Given the description of an element on the screen output the (x, y) to click on. 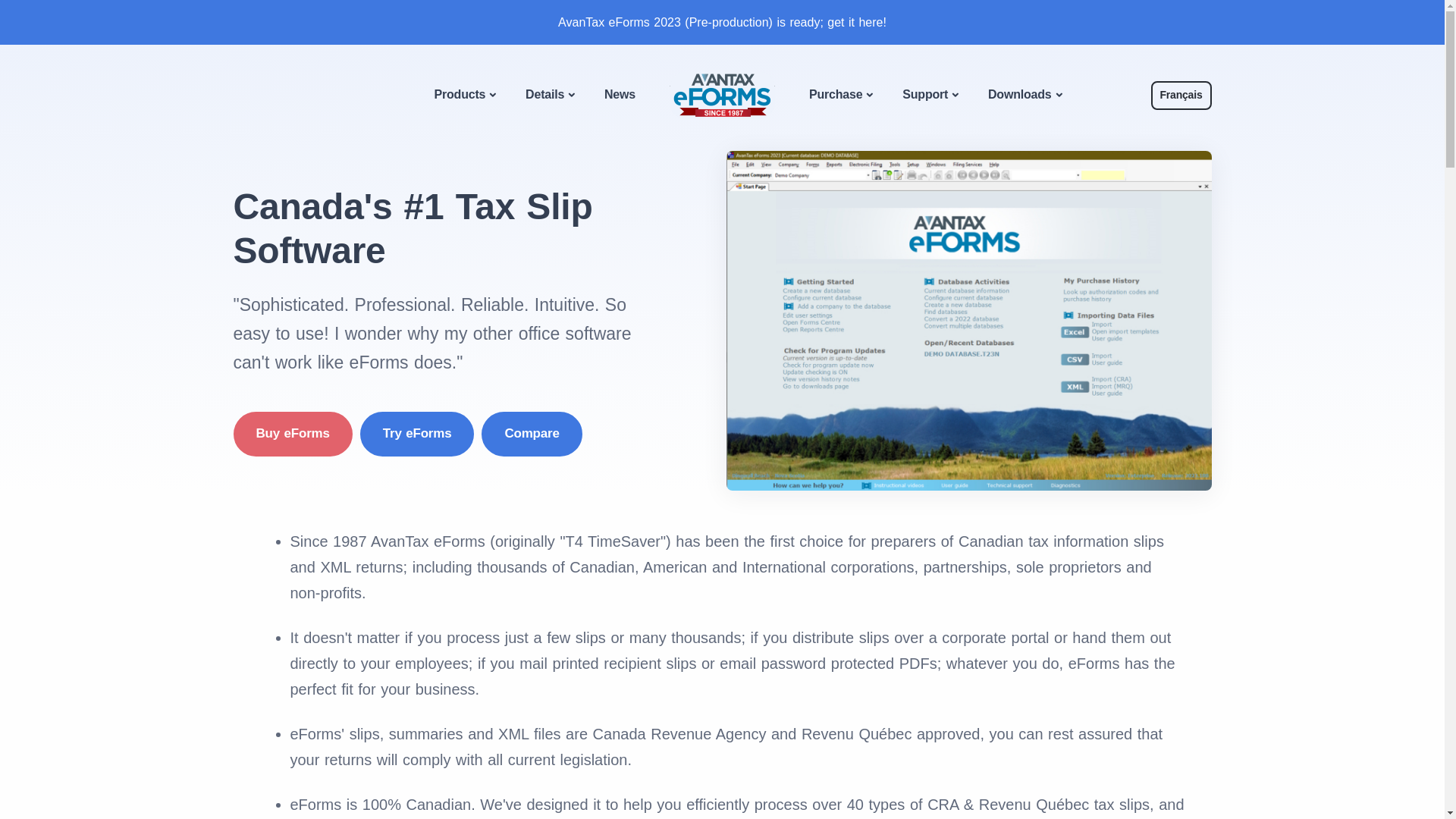
AvanTax eForms 2023 (Pre-production) is ready; get it here! Element type: text (722, 22)
Products Element type: text (465, 95)
Support Element type: text (929, 95)
News Element type: text (619, 93)
Details Element type: text (549, 95)
Try eForms Element type: text (417, 433)
Purchase Element type: text (840, 95)
Buy eForms Element type: text (292, 433)
Downloads Element type: text (1024, 95)
Compare Element type: text (531, 433)
